Given the description of an element on the screen output the (x, y) to click on. 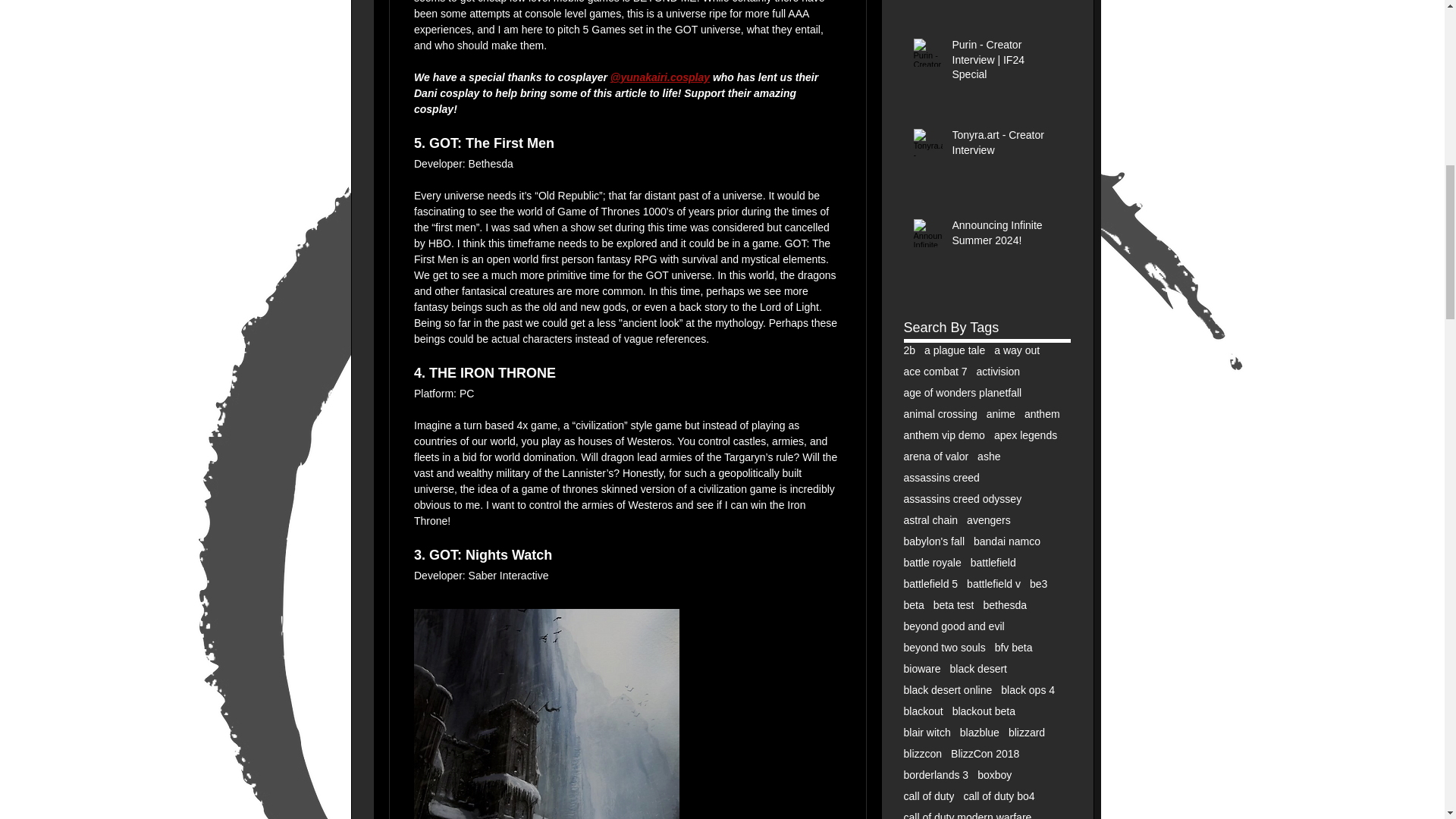
arena of valor (936, 456)
age of wonders planetfall (963, 392)
Announcing Infinite Summer 2024! (1006, 235)
2b (909, 349)
anthem vip demo (944, 435)
a way out (1016, 349)
anime (1000, 413)
a plague tale (954, 349)
apex legends (1025, 435)
Tonyra.art - Creator Interview (1006, 145)
